Given the description of an element on the screen output the (x, y) to click on. 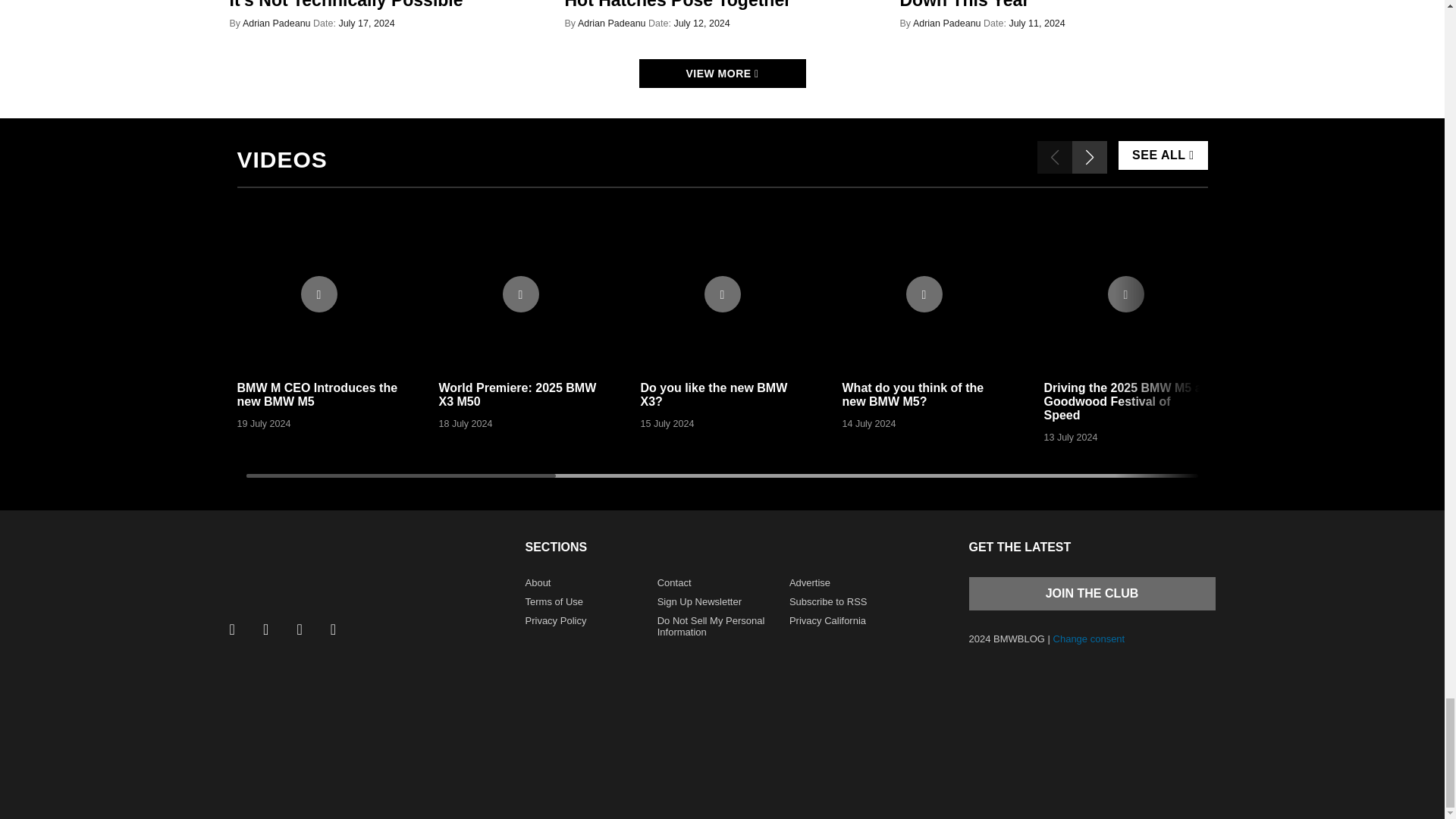
Join the club (1092, 593)
